Given the description of an element on the screen output the (x, y) to click on. 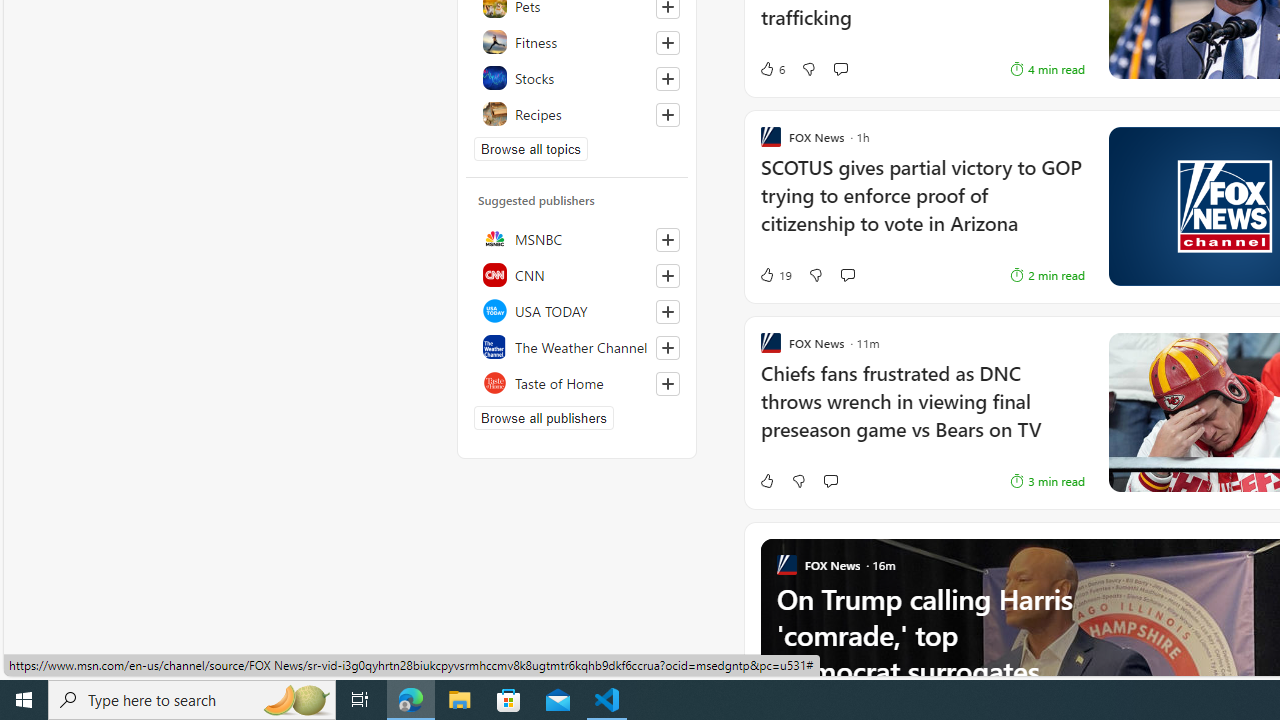
Recipes (577, 114)
Like (766, 480)
CNN (577, 274)
Browse all publishers (543, 417)
19 Like (775, 274)
